Given the description of an element on the screen output the (x, y) to click on. 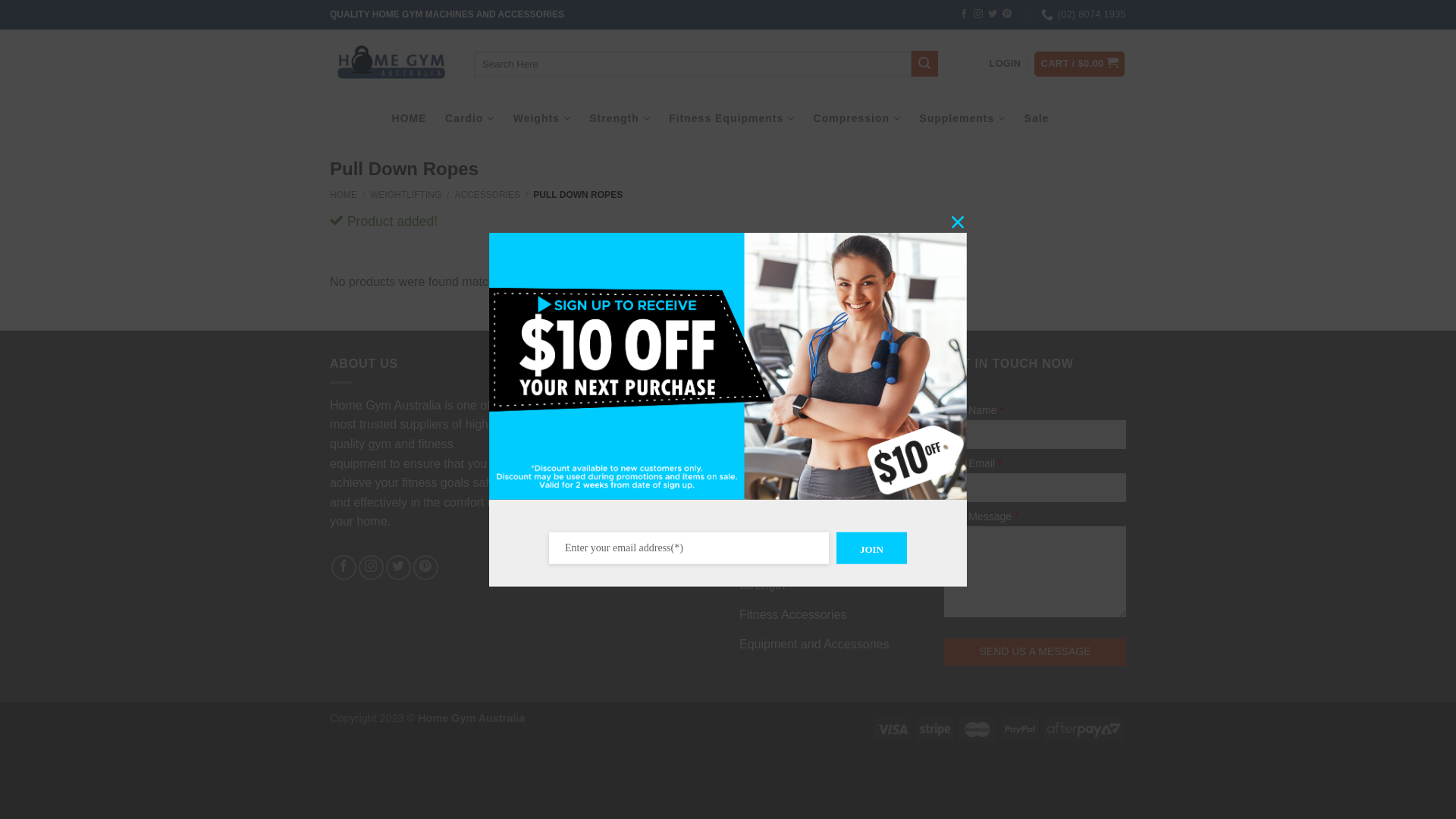
Sydney Element type: text (554, 538)
Search Element type: text (924, 63)
CART / $0.00 Element type: text (1079, 63)
Strength Element type: text (761, 585)
SEND US A MESSAGE Element type: text (1035, 651)
Weights Element type: text (541, 118)
(02) 8074 1935 Element type: text (1083, 14)
Strength Element type: text (619, 118)
Supplements Element type: text (962, 118)
Boxing Element type: text (757, 526)
Recovery Element type: text (764, 556)
Sale Element type: text (1036, 118)
Cardio Element type: text (757, 497)
Contact Us Element type: text (769, 409)
Compression Element type: text (857, 118)
ACCESSORIES Element type: text (487, 194)
LOGIN Element type: text (1005, 63)
Delivery Information Element type: text (793, 438)
Melbourne Element type: text (563, 484)
HOME Element type: text (343, 194)
Equipment and Accessories Element type: text (813, 644)
WEIGHTLIFTING Element type: text (405, 194)
Privacy Policy Element type: text (777, 468)
Fitness Equipments Element type: text (731, 118)
HOME Element type: text (409, 118)
Cardio Element type: text (469, 118)
Fitness Accessories Element type: text (792, 614)
